Given the description of an element on the screen output the (x, y) to click on. 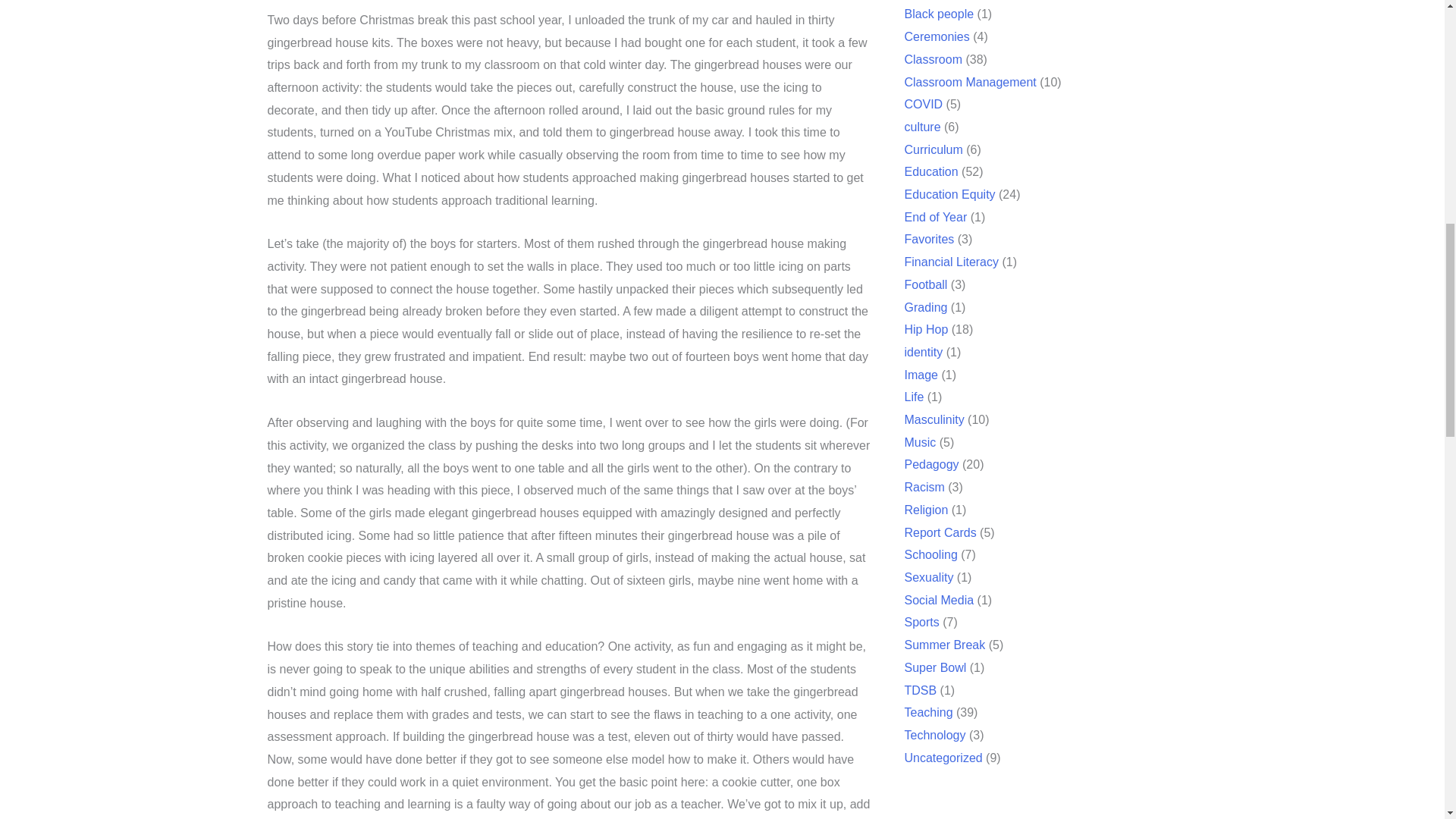
Classroom Management (988, 82)
Education (941, 171)
Hip Hop (926, 328)
End of Year (942, 216)
Ceremonies (961, 36)
Education Equity (957, 194)
Classroom (955, 59)
Black people (968, 13)
COVID (940, 103)
Favorites (933, 238)
August 5, 2016 (307, 504)
CLASSROOM (320, 511)
Grading (925, 307)
Curriculum (946, 149)
Financial Literacy (955, 261)
